Given the description of an element on the screen output the (x, y) to click on. 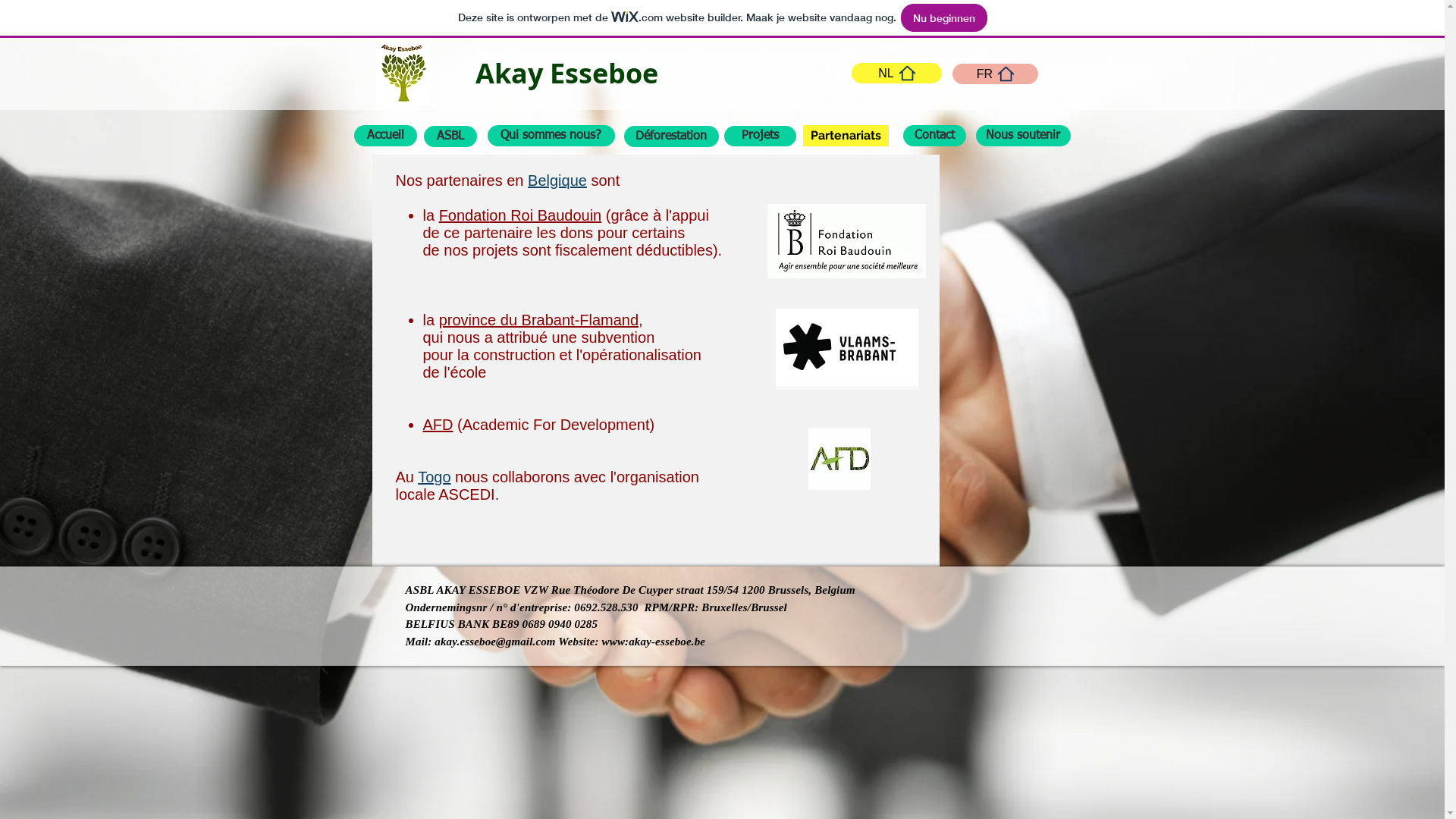
Qui sommes nous? Element type: text (550, 135)
Projets Element type: text (759, 135)
on Roi Baudouin Element type: text (545, 215)
Contact Element type: text (933, 135)
Partenariats Element type: text (845, 135)
Accueil Element type: text (384, 135)
province du Brabant-Flamand Element type: text (538, 319)
ASBL Element type: text (449, 136)
FR Element type: text (995, 73)
Akay Esseboe Element type: text (565, 72)
Nous soutenir Element type: text (1022, 135)
Fondati Element type: text (464, 215)
NL Element type: text (895, 72)
AFD Element type: text (438, 424)
